Given the description of an element on the screen output the (x, y) to click on. 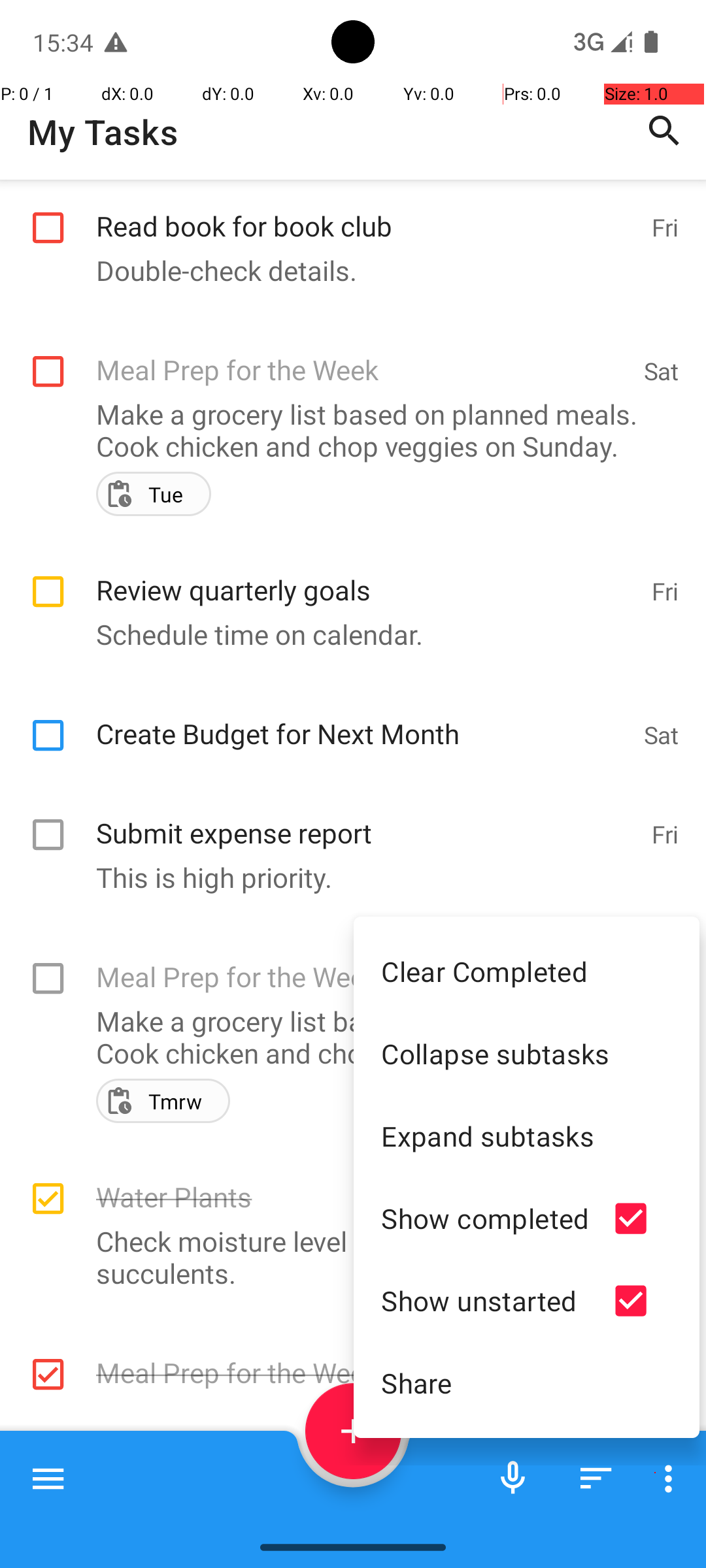
Clear Completed Element type: android.widget.TextView (526, 970)
Collapse subtasks Element type: android.widget.TextView (526, 1053)
Expand subtasks Element type: android.widget.TextView (526, 1135)
Show completed Element type: android.widget.TextView (485, 1217)
Show unstarted Element type: android.widget.TextView (485, 1300)
